Given the description of an element on the screen output the (x, y) to click on. 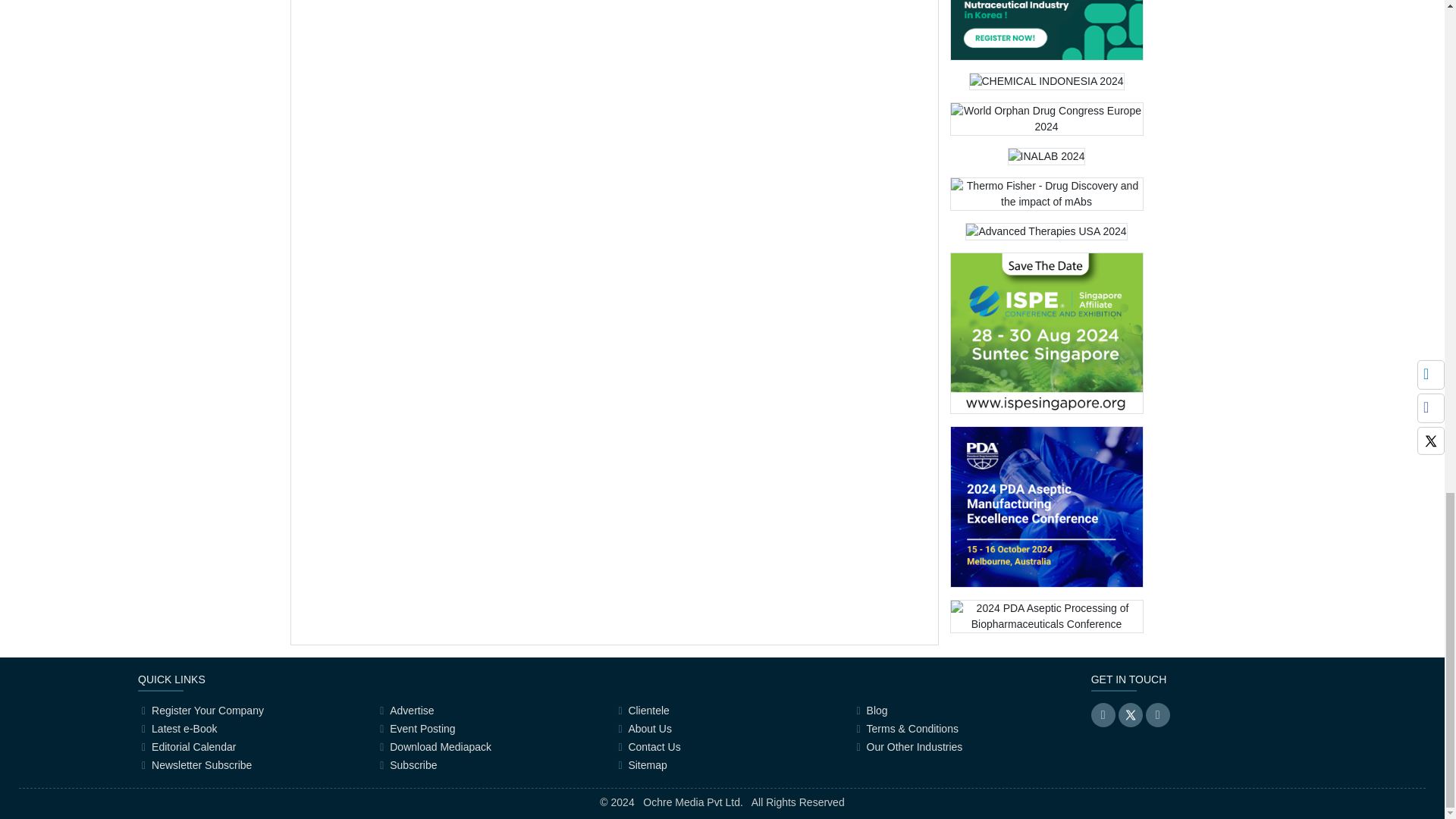
CPHI Korea 2024 (1045, 30)
CHEMICAL INDONESIA 2024 (1046, 86)
INALAB 2024 (1046, 161)
World Orphan Drug Congress Europe 2024 (1045, 123)
INALAB 2024 (1046, 156)
CHEMICAL INDONESIA 2024 (1046, 81)
World Orphan Drug Congress Europe 2024 (1045, 118)
